Given the description of an element on the screen output the (x, y) to click on. 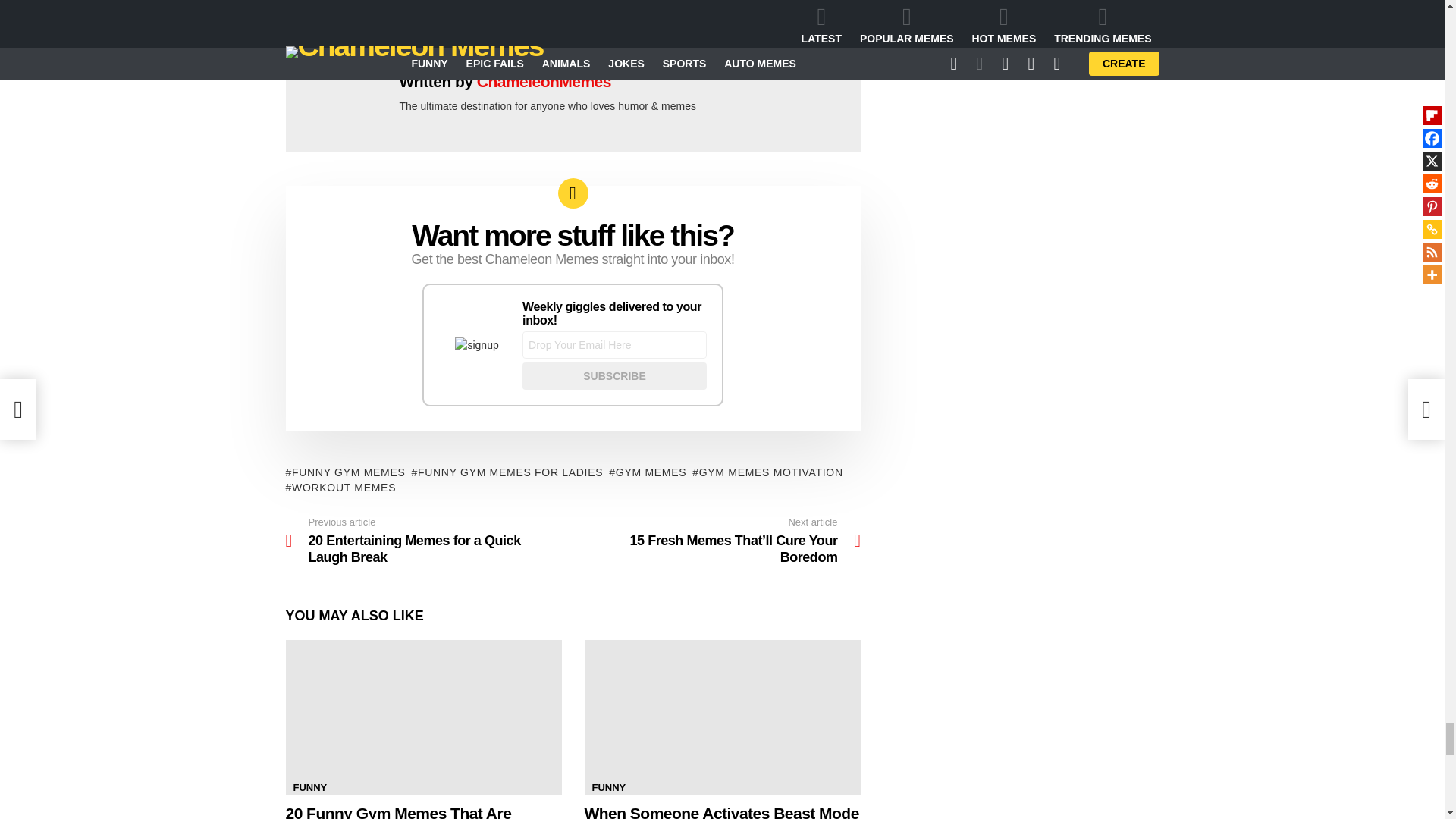
Subscribe (614, 375)
